Given the description of an element on the screen output the (x, y) to click on. 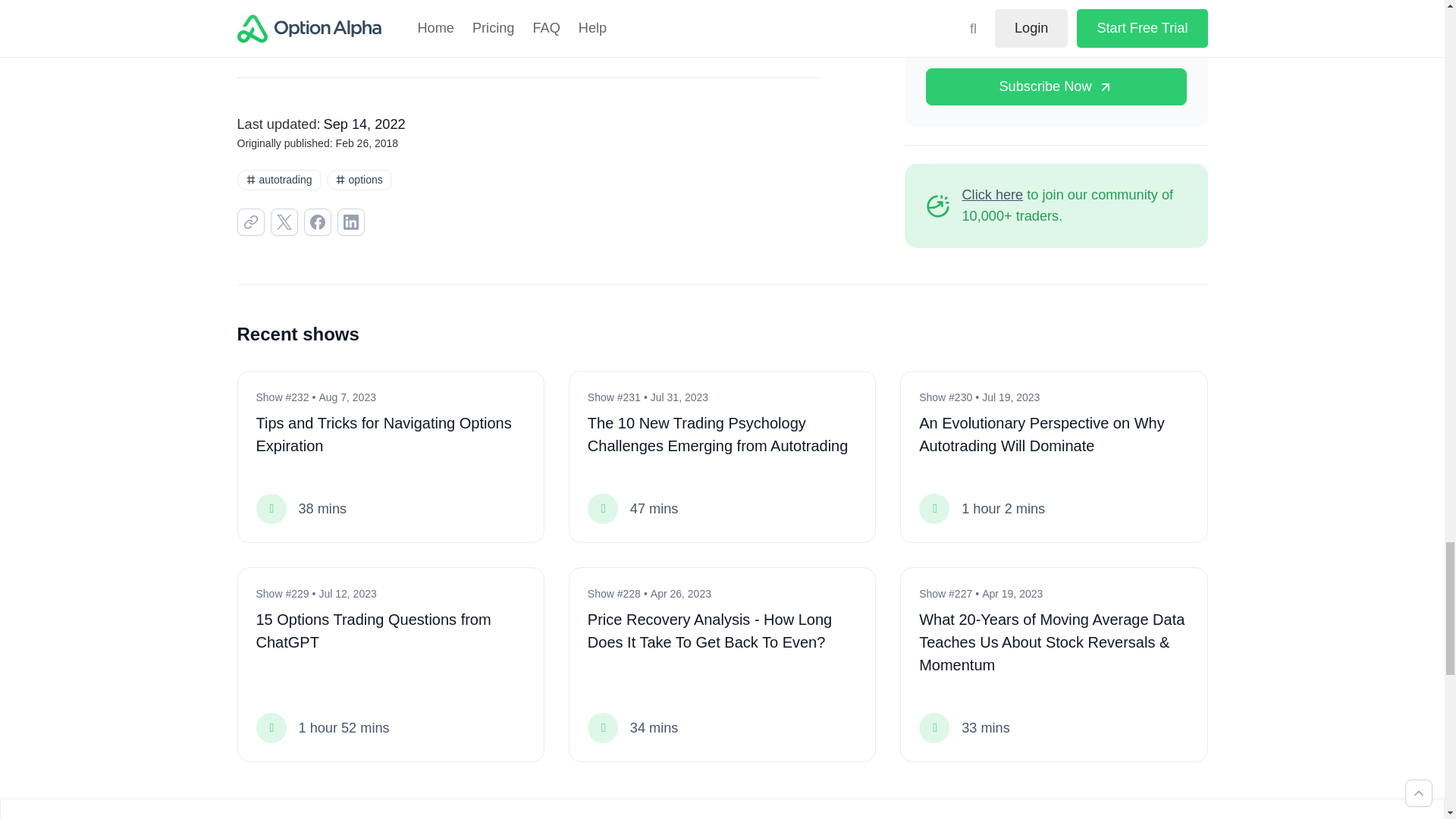
Share on LinkedIn (350, 221)
Share on Twitter (283, 221)
autotrading (277, 179)
Share on Facebook (316, 221)
options (526, 14)
